Given the description of an element on the screen output the (x, y) to click on. 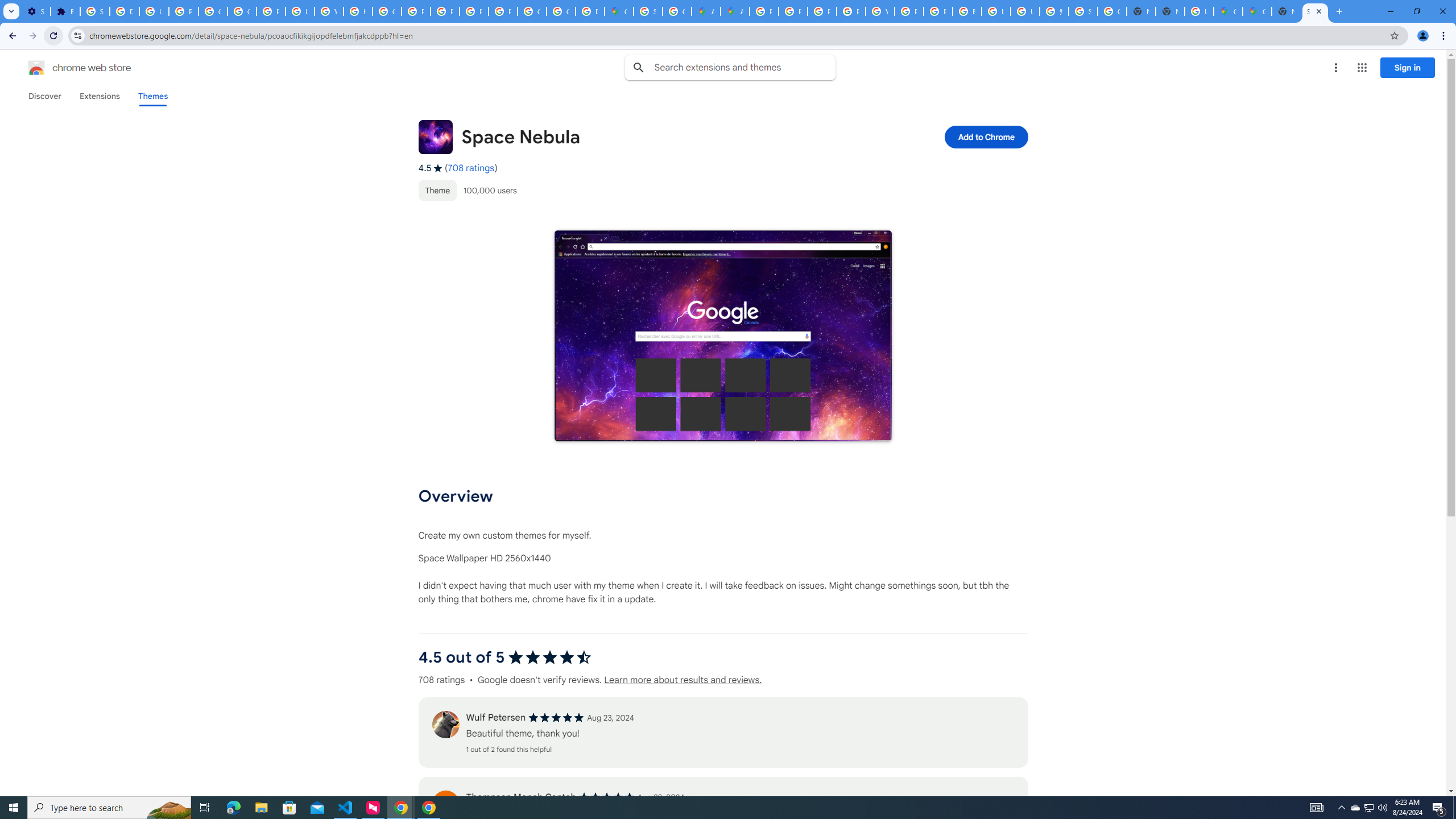
Google Maps (1227, 11)
Learn more about results and reviews. (682, 680)
Privacy Help Center - Policies Help (821, 11)
Themes (152, 95)
Privacy Help Center - Policies Help (415, 11)
YouTube (327, 11)
5 out of 5 stars (606, 797)
